Given the description of an element on the screen output the (x, y) to click on. 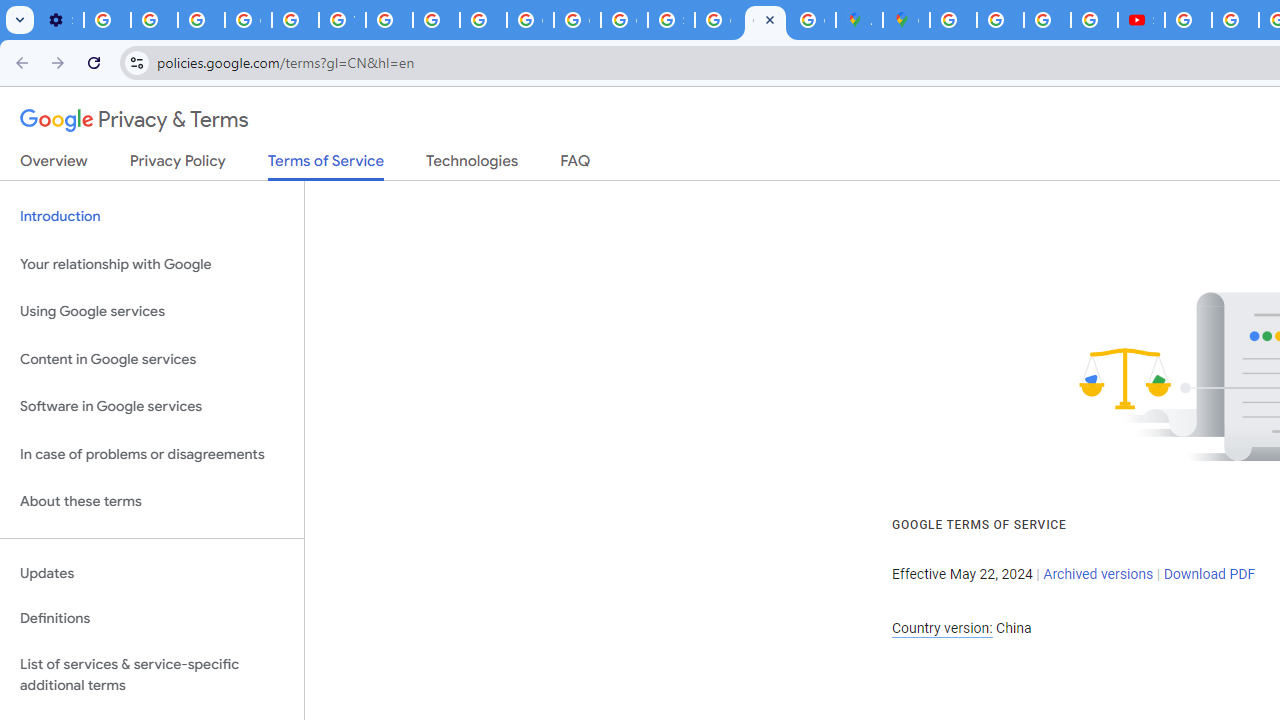
Sign in - Google Accounts (671, 20)
Google Maps (906, 20)
Content in Google services (152, 358)
Privacy Help Center - Policies Help (999, 20)
How Chrome protects your passwords - Google Chrome Help (1188, 20)
Privacy Help Center - Policies Help (294, 20)
